Given the description of an element on the screen output the (x, y) to click on. 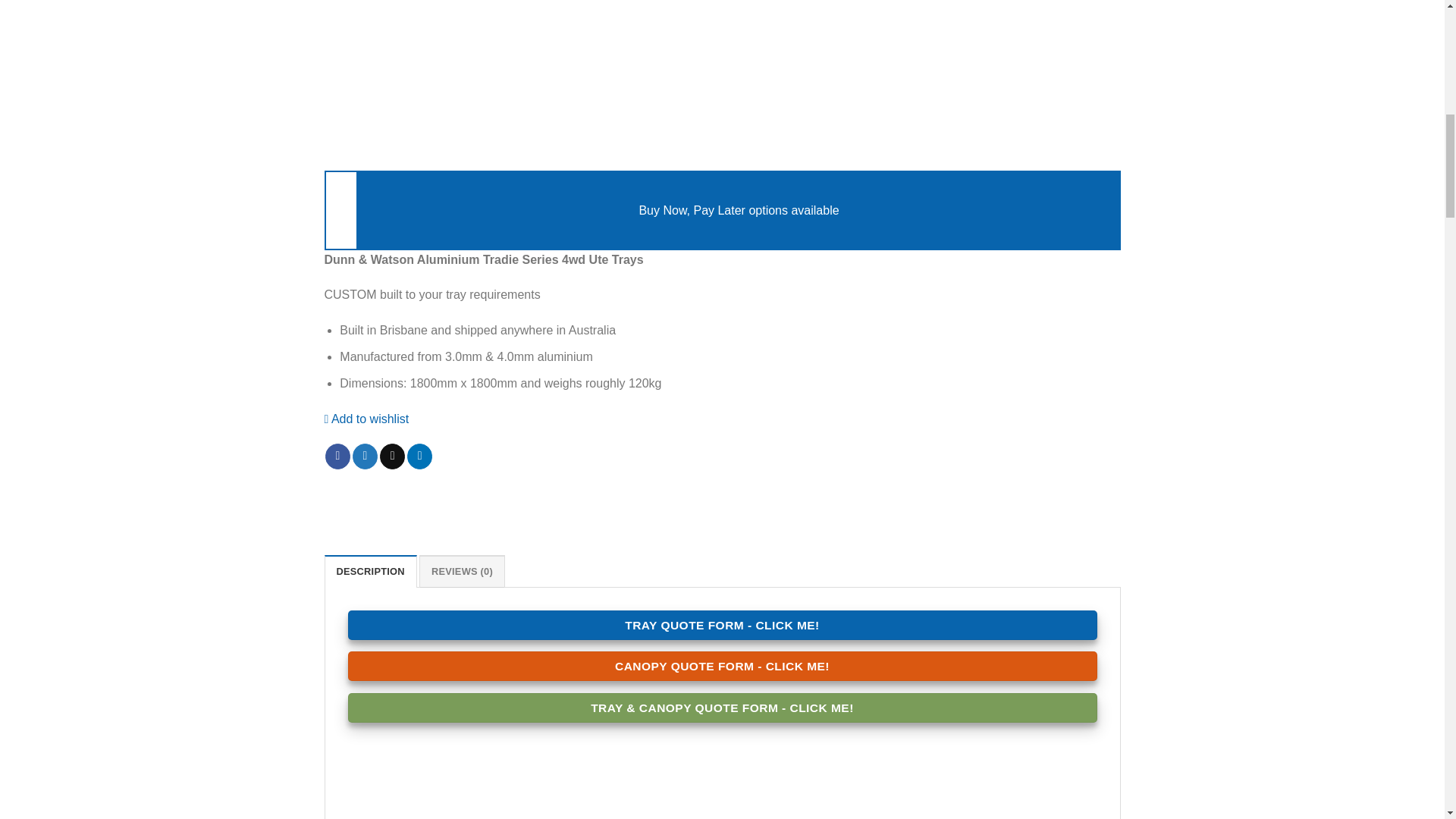
Share on Facebook (337, 456)
Email to a Friend (392, 456)
Share on LinkedIn (419, 456)
Share on Twitter (364, 456)
